Given the description of an element on the screen output the (x, y) to click on. 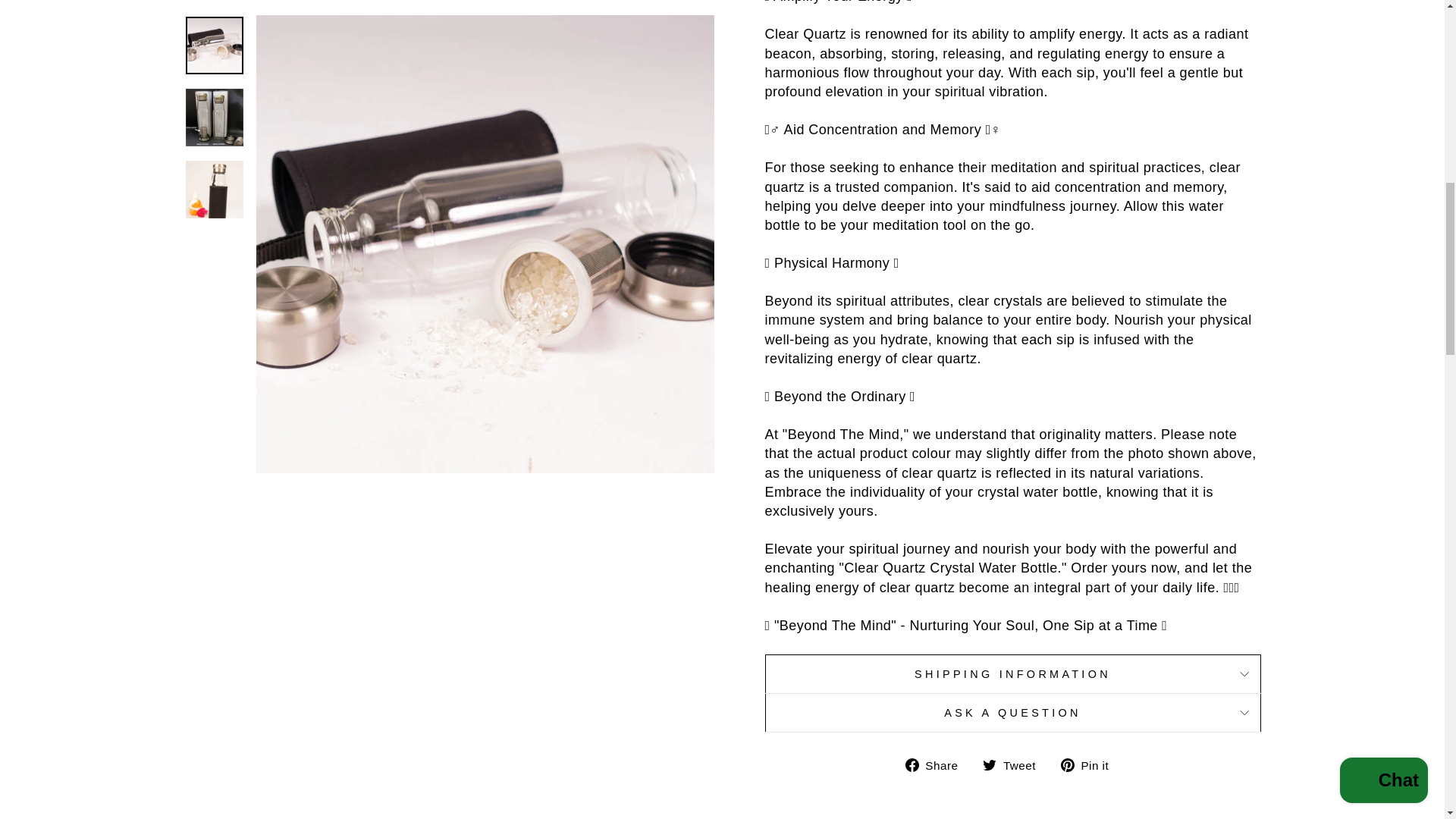
twitter (937, 764)
ASK A QUESTION (988, 765)
Tweet on Twitter (1012, 712)
SHIPPING INFORMATION (1014, 764)
Pin on Pinterest (1012, 673)
Share on Facebook (1090, 764)
